Given the description of an element on the screen output the (x, y) to click on. 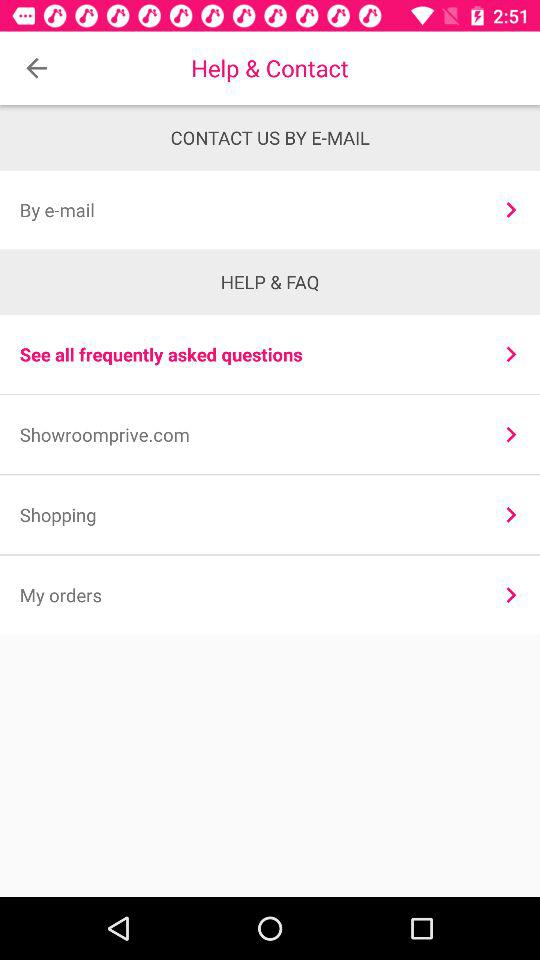
turn on item below the see all frequently icon (510, 434)
